Given the description of an element on the screen output the (x, y) to click on. 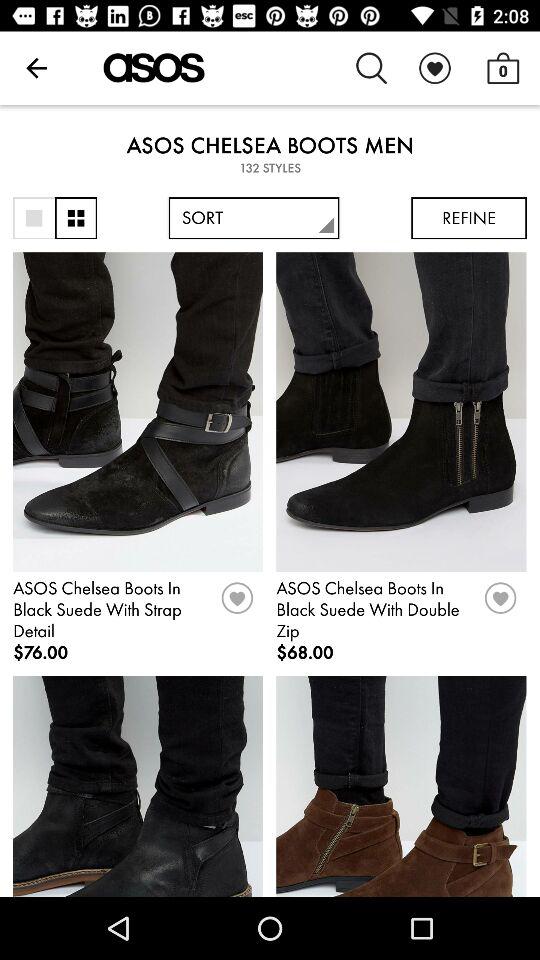
choose item to the left of sort icon (76, 218)
